Given the description of an element on the screen output the (x, y) to click on. 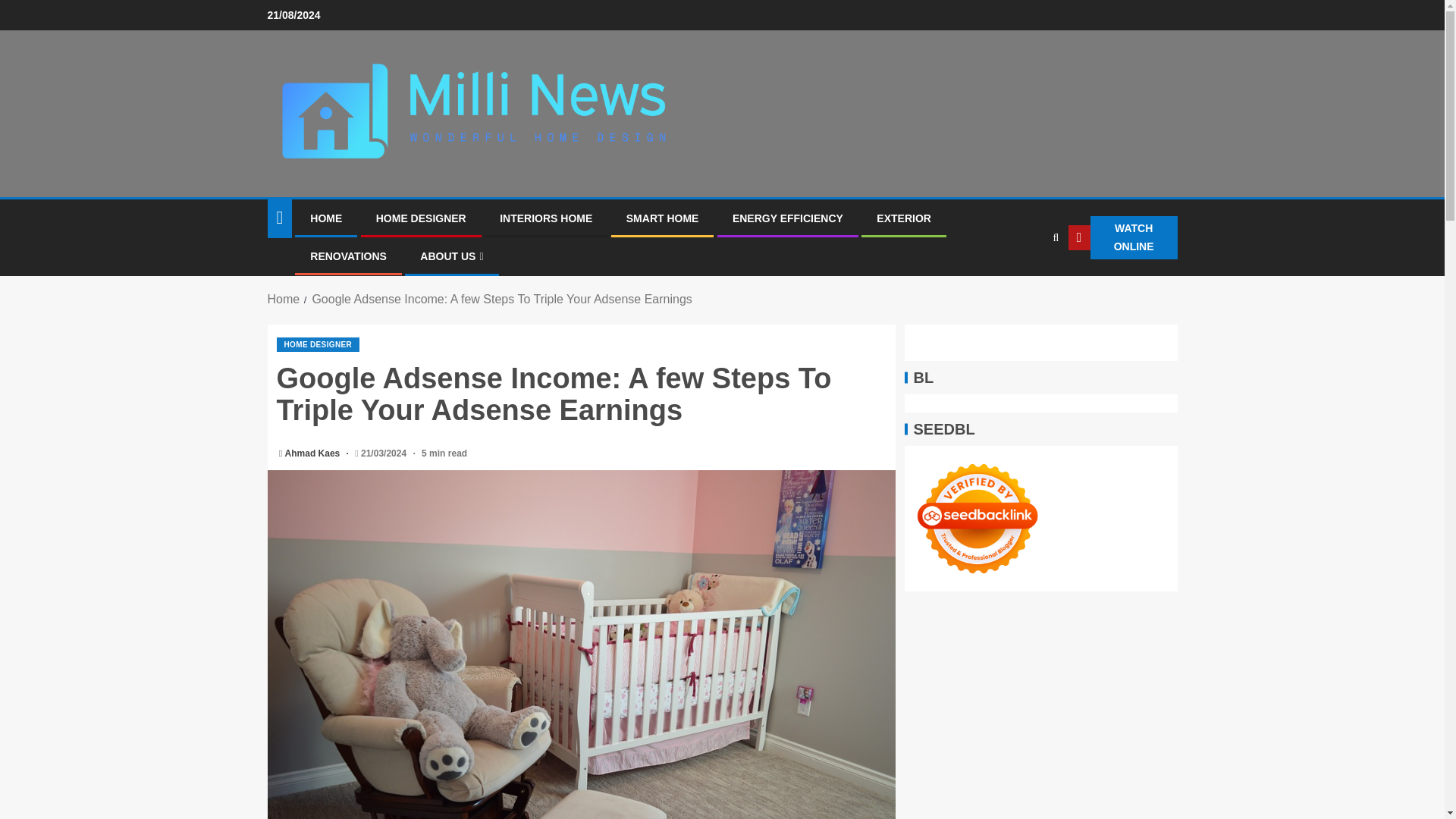
HOME DESIGNER (317, 344)
Ahmad Kaes (313, 452)
INTERIORS HOME (545, 218)
Search (1024, 284)
EXTERIOR (903, 218)
ABOUT US (451, 256)
WATCH ONLINE (1122, 238)
RENOVATIONS (348, 256)
